Given the description of an element on the screen output the (x, y) to click on. 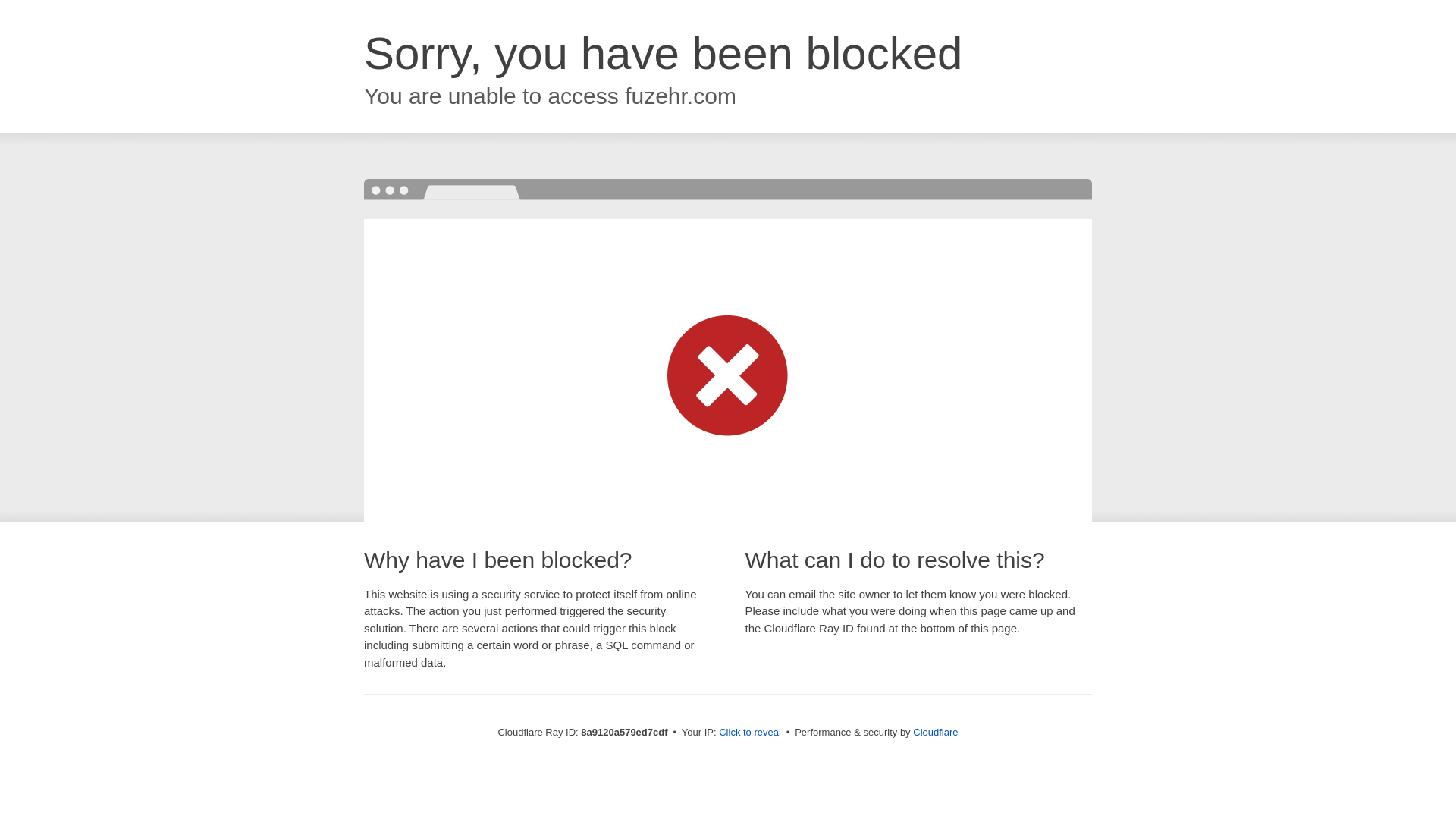
Cloudflare (935, 731)
Click to reveal (749, 732)
